Given the description of an element on the screen output the (x, y) to click on. 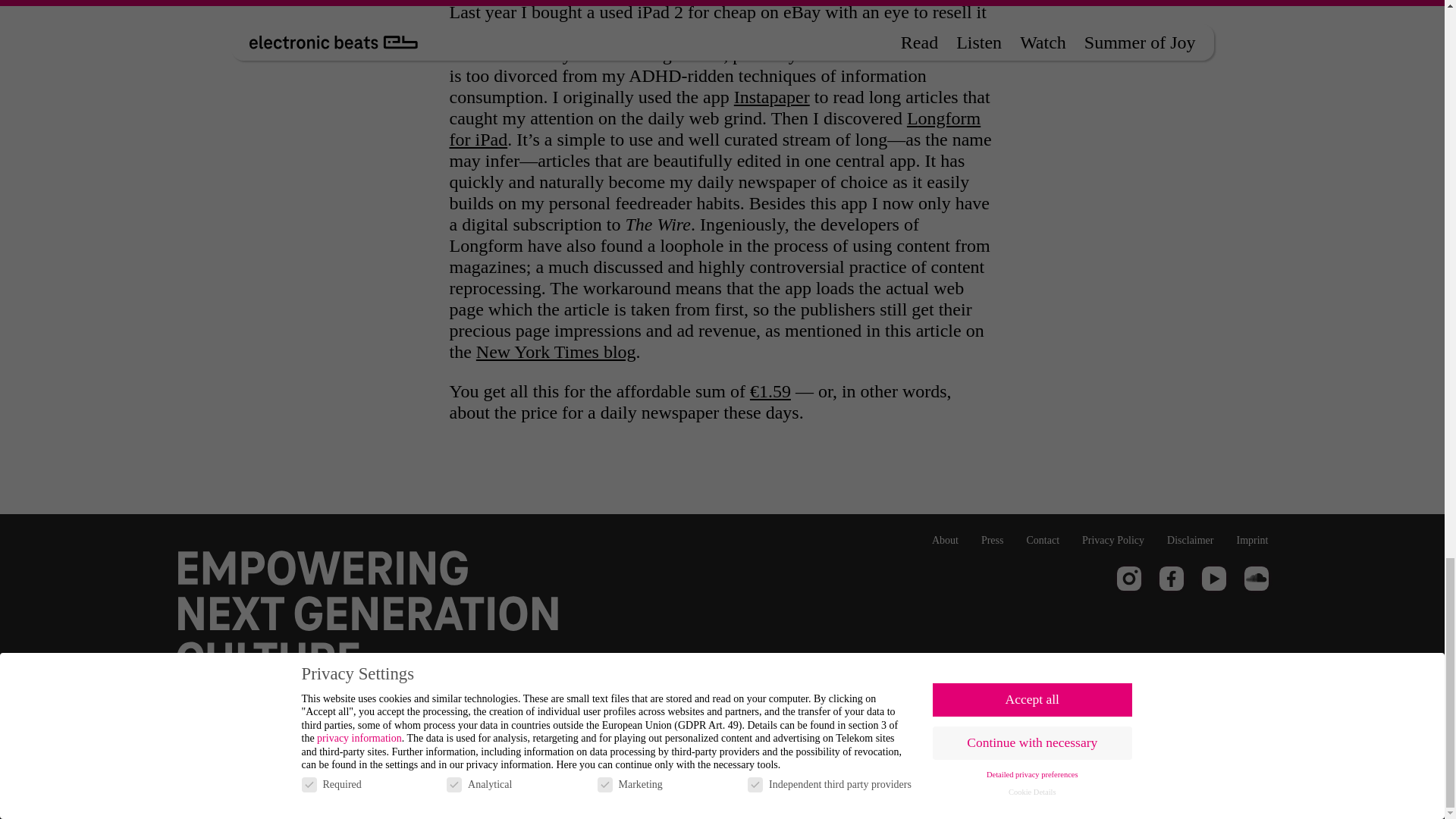
Soundcloud (1255, 578)
Disclaimer (1189, 540)
Imprint (1252, 540)
New York Times blog (556, 351)
Instagram (1128, 578)
Facebook (1170, 578)
Privacy Policy (1112, 540)
Contact (1042, 540)
About (944, 540)
Press (992, 540)
